Given the description of an element on the screen output the (x, y) to click on. 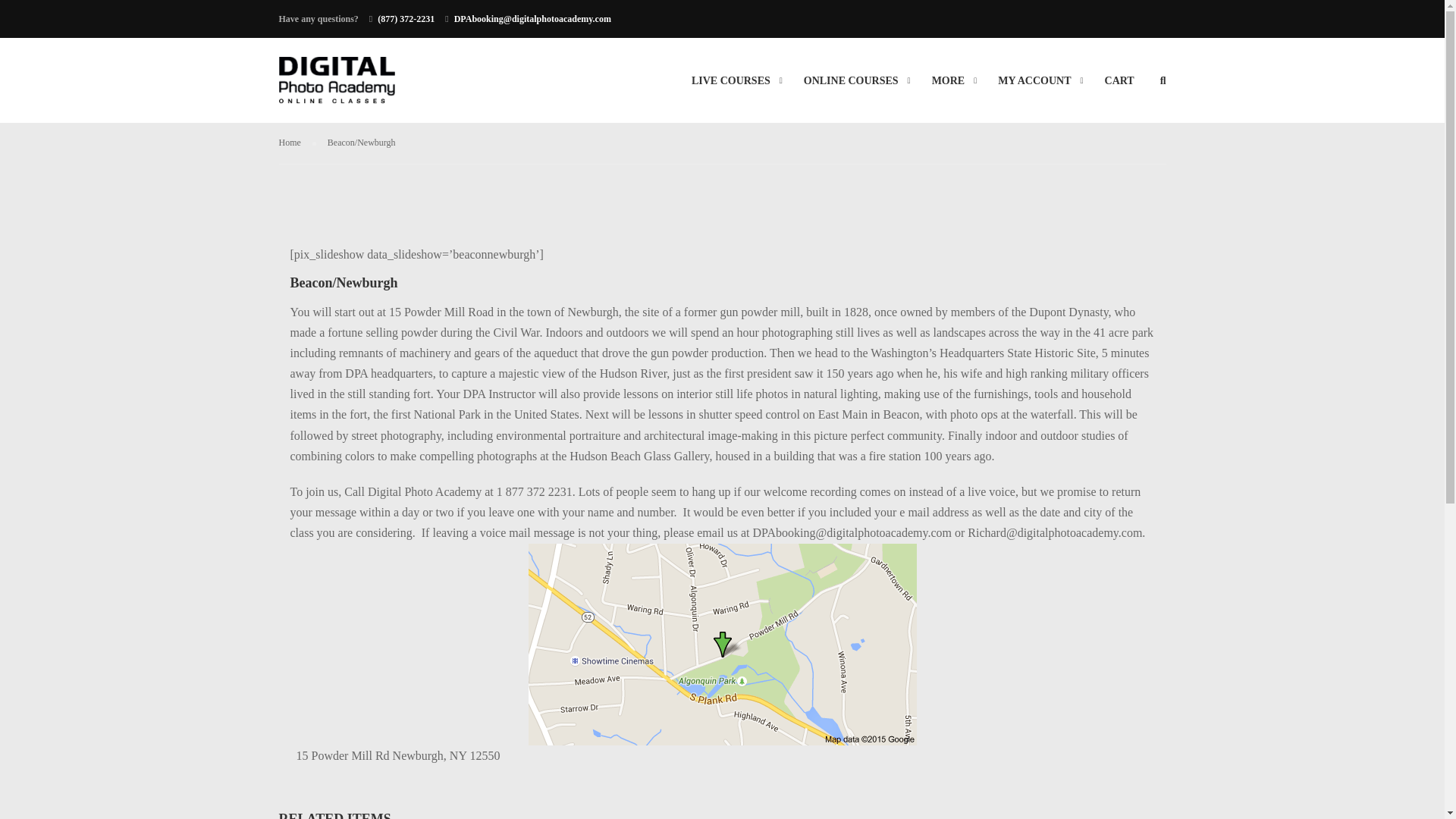
Digital Photo Academy - Learn how to use your digital camera (336, 87)
Home (297, 142)
LIVE COURSES (731, 87)
MY ACCOUNT (1034, 87)
Home (297, 142)
ONLINE COURSES (851, 87)
CART (1119, 87)
